Given the description of an element on the screen output the (x, y) to click on. 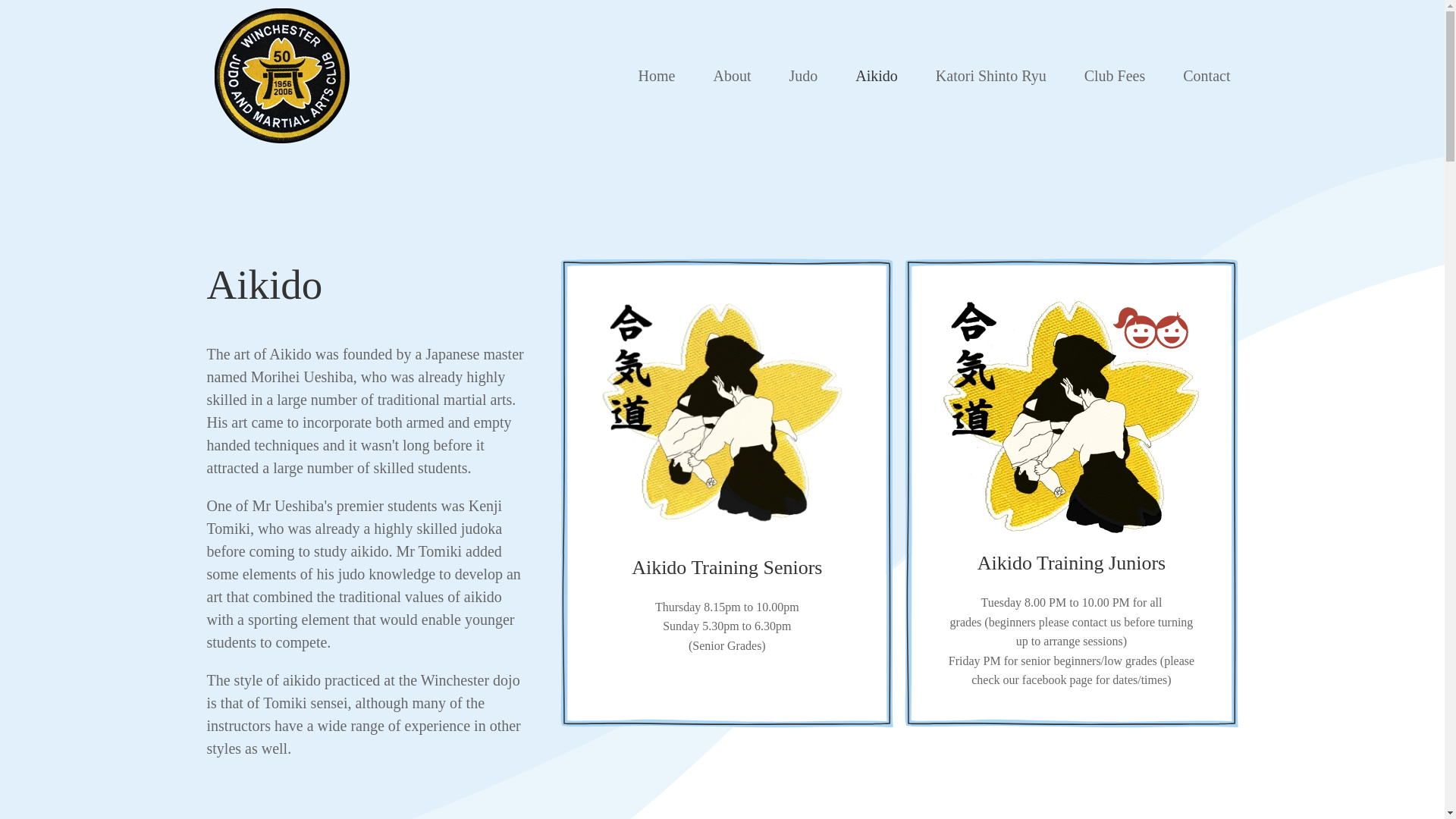
Katori Shinto Ryu (991, 75)
Club Fees (1115, 75)
Aikido (876, 75)
Aikido (367, 284)
Contact (1205, 75)
Judo (802, 75)
Home (656, 75)
About (731, 75)
